Given the description of an element on the screen output the (x, y) to click on. 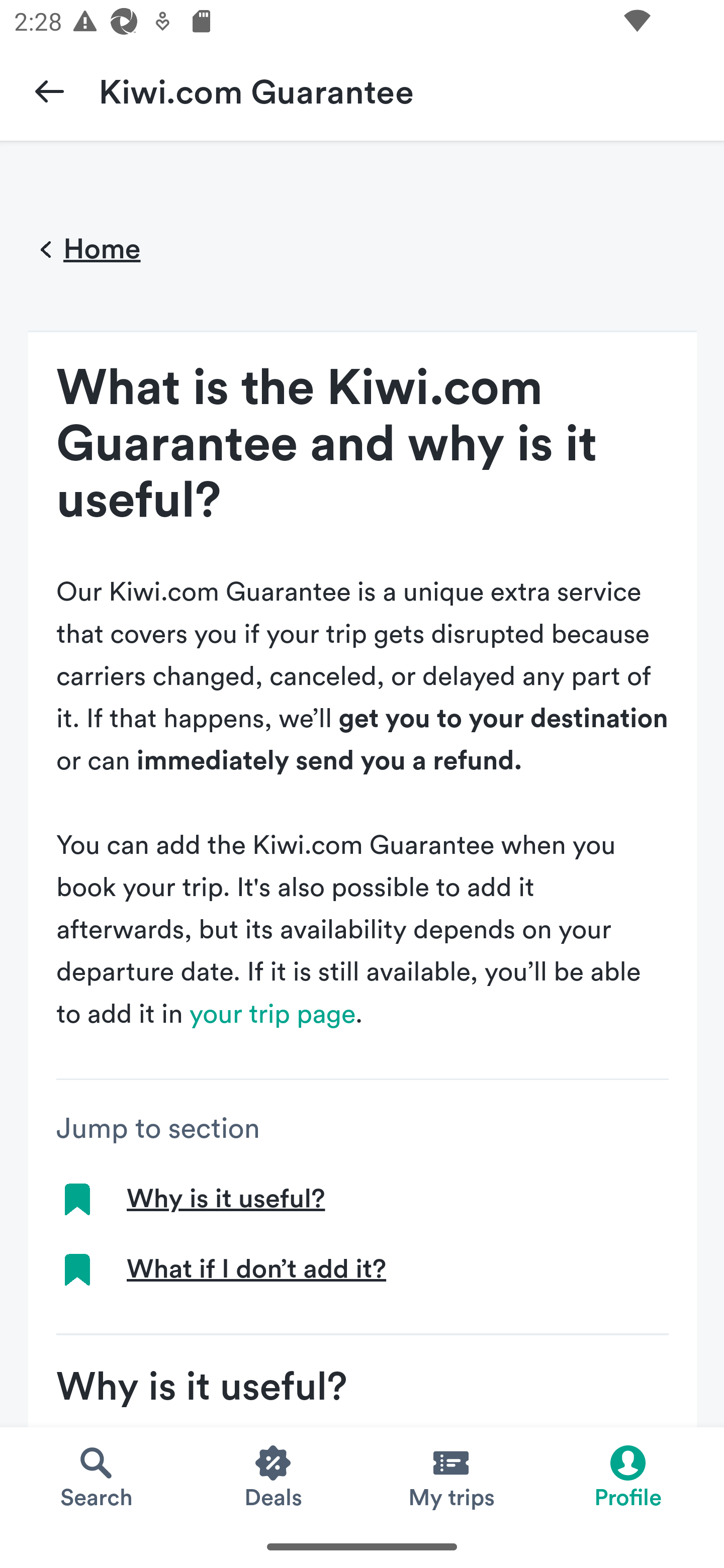
Navigate up (49, 90)
Home (84, 249)
your trip page (272, 1014)
Why is it useful? (225, 1199)
What if I don’t add it? (256, 1269)
Search (95, 1475)
Deals (273, 1475)
My trips (450, 1475)
